Given the description of an element on the screen output the (x, y) to click on. 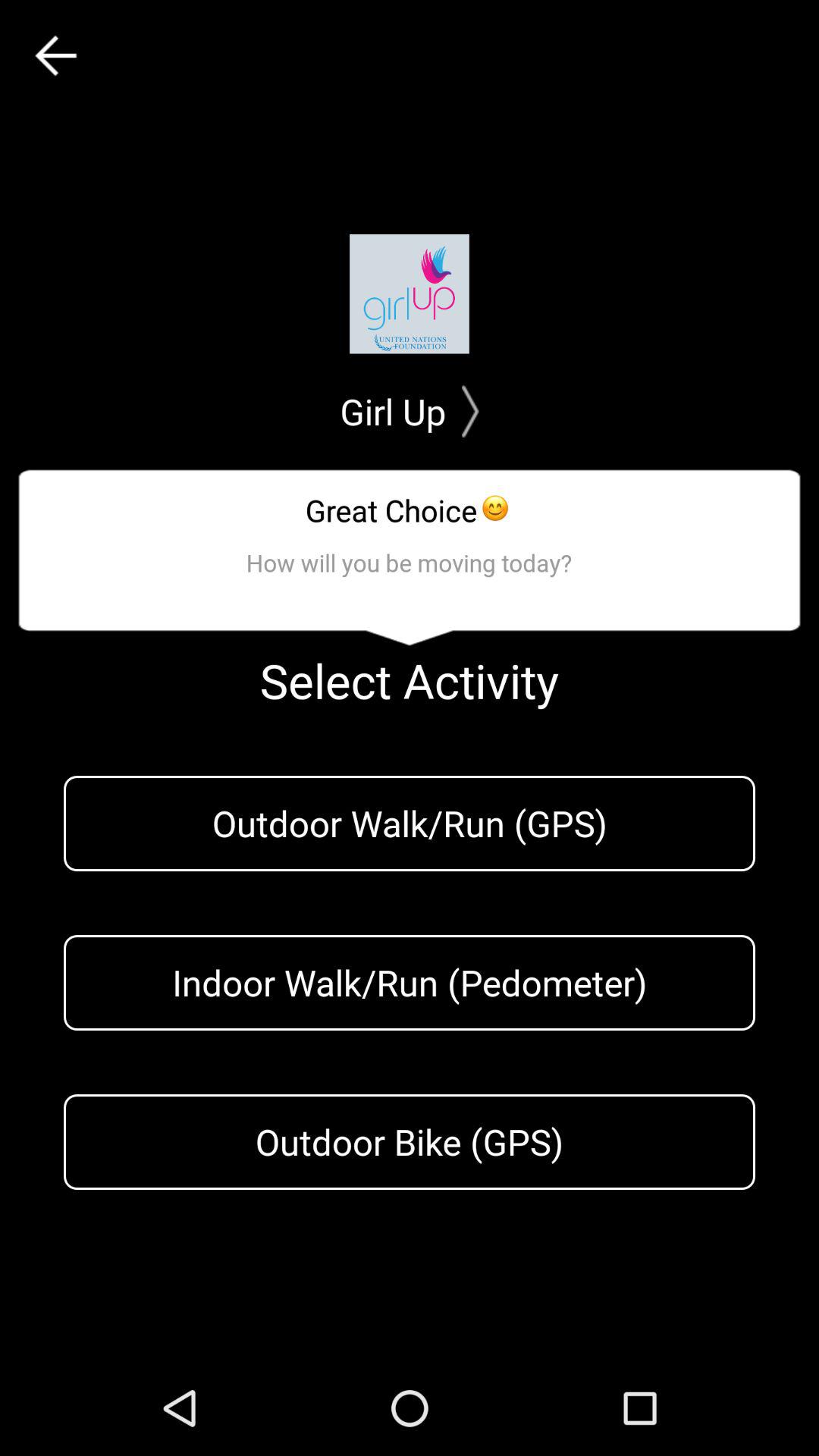
flip to girl up item (409, 411)
